Given the description of an element on the screen output the (x, y) to click on. 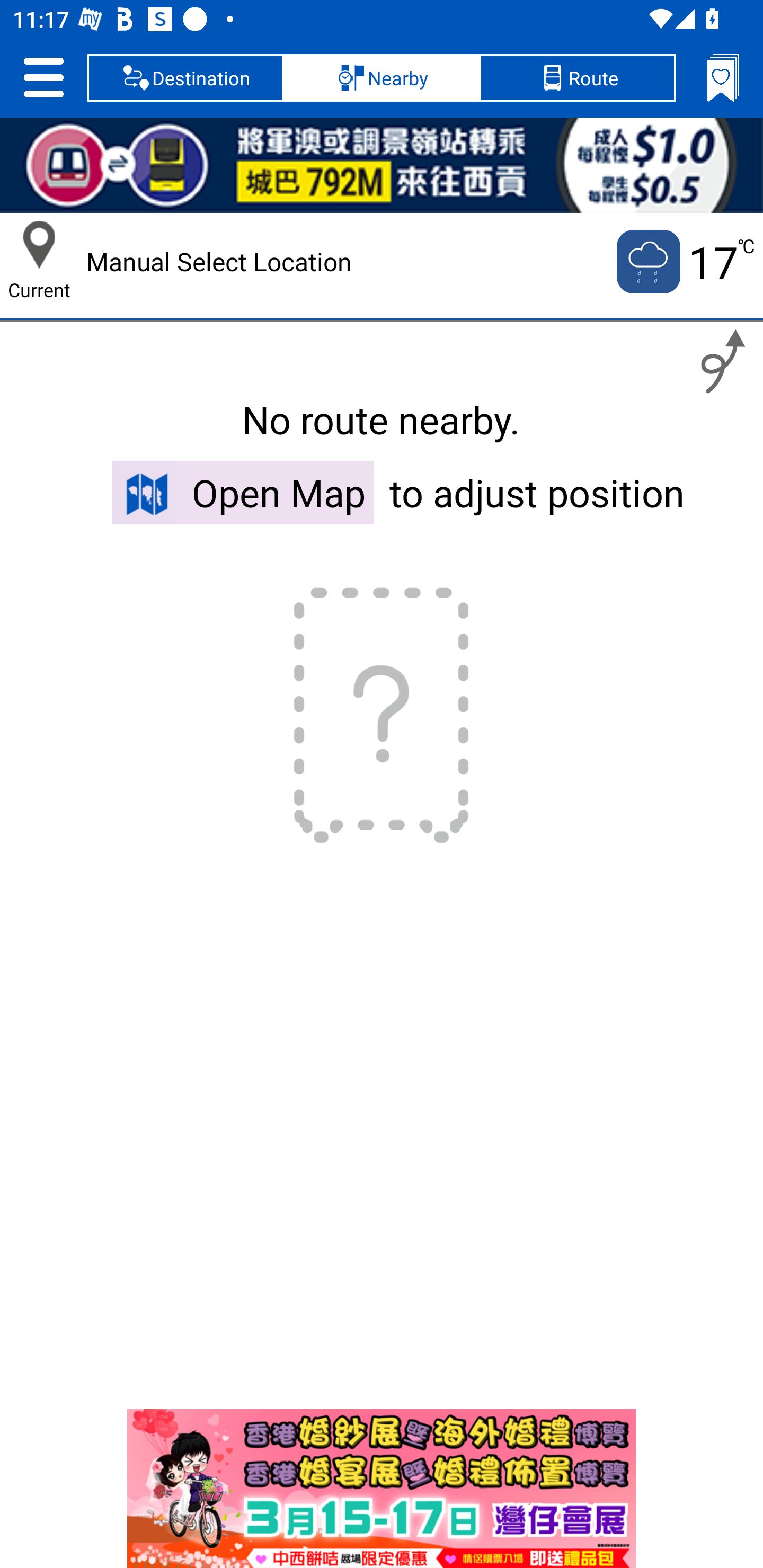
Destination (185, 77)
Nearby, selected (381, 77)
Route (577, 77)
Bookmarks (723, 77)
Setting (43, 77)
792M BRI (381, 165)
Current Location (38, 244)
Current temputure is  17  no 17 ℃ (684, 261)
Open Map (242, 491)
index (381, 1488)
